Given the description of an element on the screen output the (x, y) to click on. 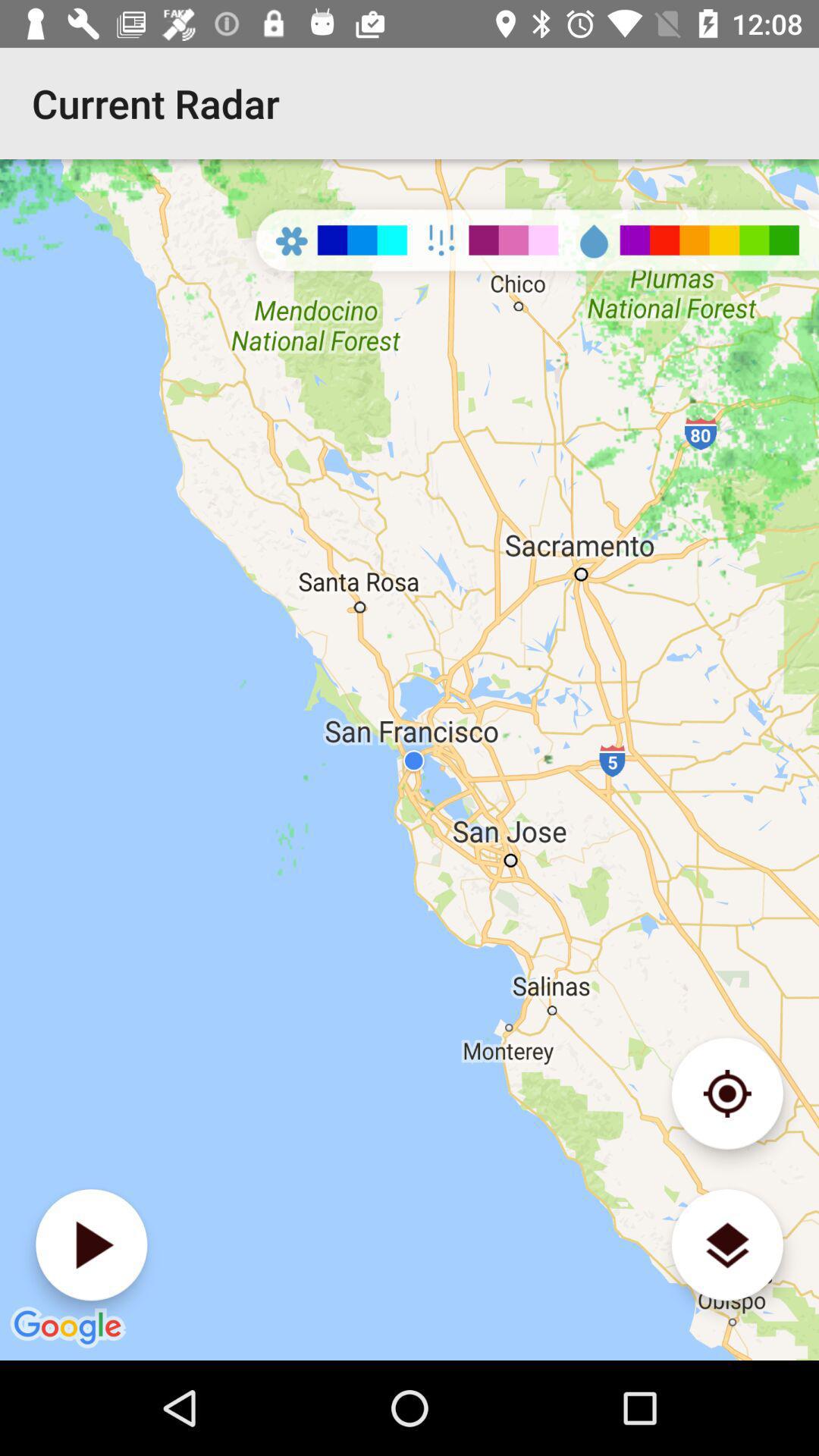
plays back the radar data (91, 1244)
